Given the description of an element on the screen output the (x, y) to click on. 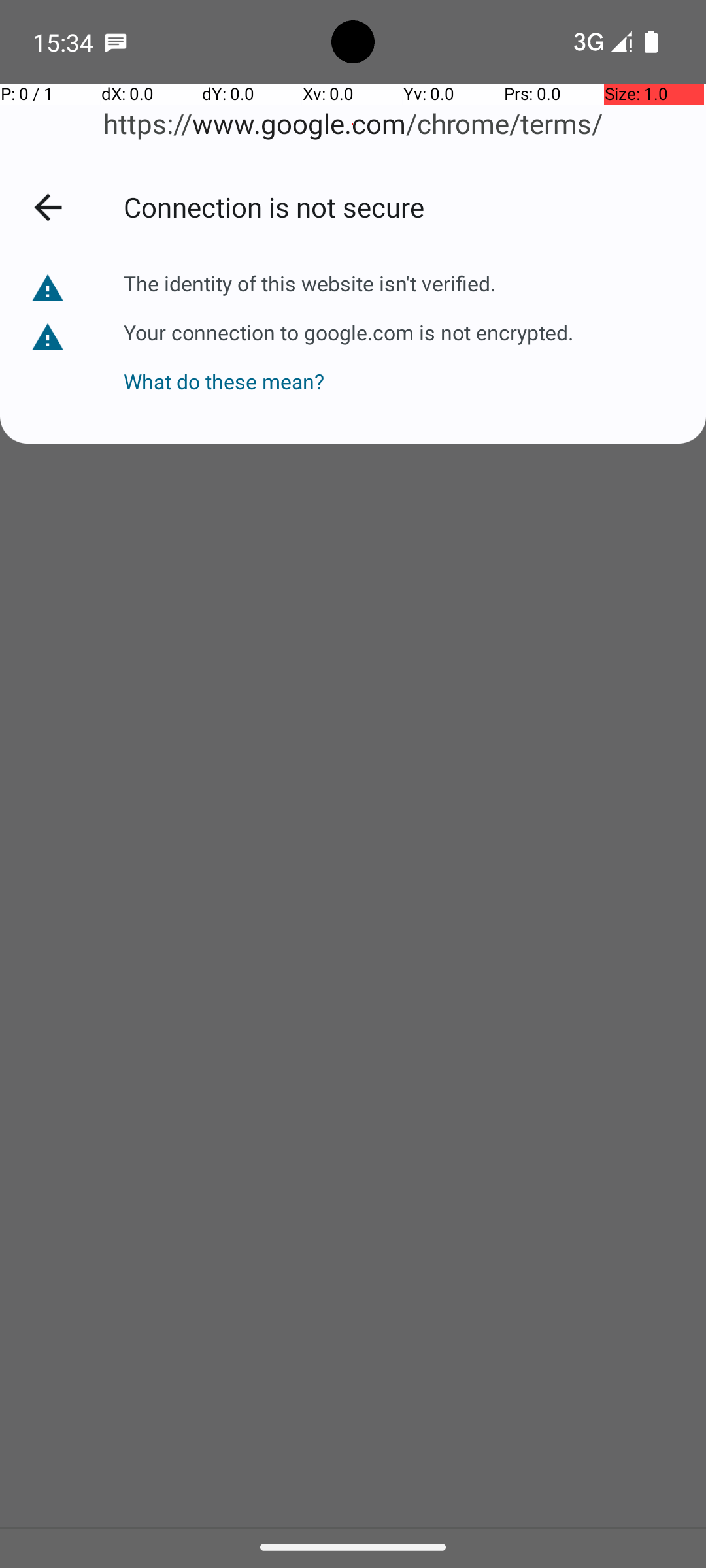
Back Element type: android.widget.ImageButton (47, 206)
Connection is not secure Element type: android.widget.TextView (400, 206)
The identity of this website isn't verified. Element type: android.widget.TextView (309, 283)
Your connection to google.com is not encrypted. Element type: android.widget.TextView (348, 332)
What do these mean? Element type: android.widget.TextView (348, 370)
https://www.google.com/chrome/terms/ Element type: android.widget.TextView (352, 124)
SMS Messenger notification: +10214033213 Element type: android.widget.ImageView (115, 41)
